Given the description of an element on the screen output the (x, y) to click on. 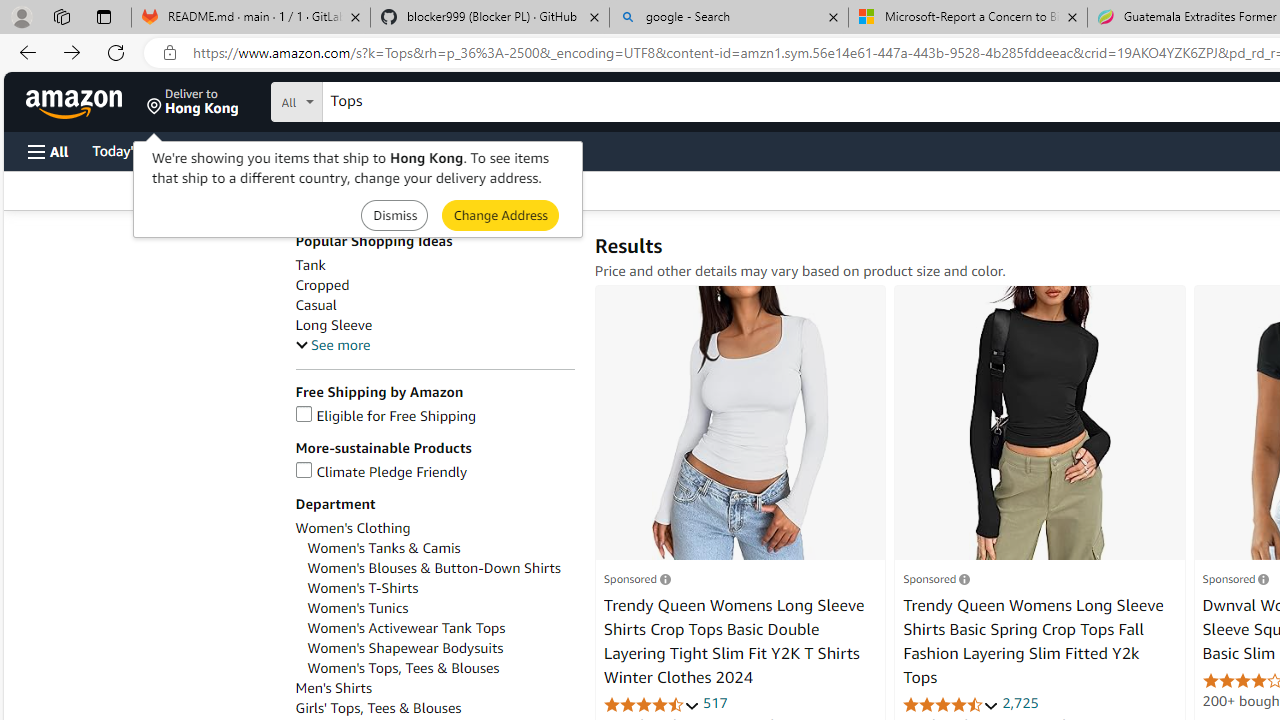
Climate Pledge Friendly (381, 471)
Long Sleeve (333, 325)
Women's Shapewear Bodysuits (440, 648)
Women's Tops, Tees & Blouses (440, 668)
Women's Tunics (358, 608)
Women's Clothing (434, 528)
Tank (310, 265)
2,725 (1020, 702)
Cropped (321, 285)
Women's Activewear Tank Tops (406, 628)
